Given the description of an element on the screen output the (x, y) to click on. 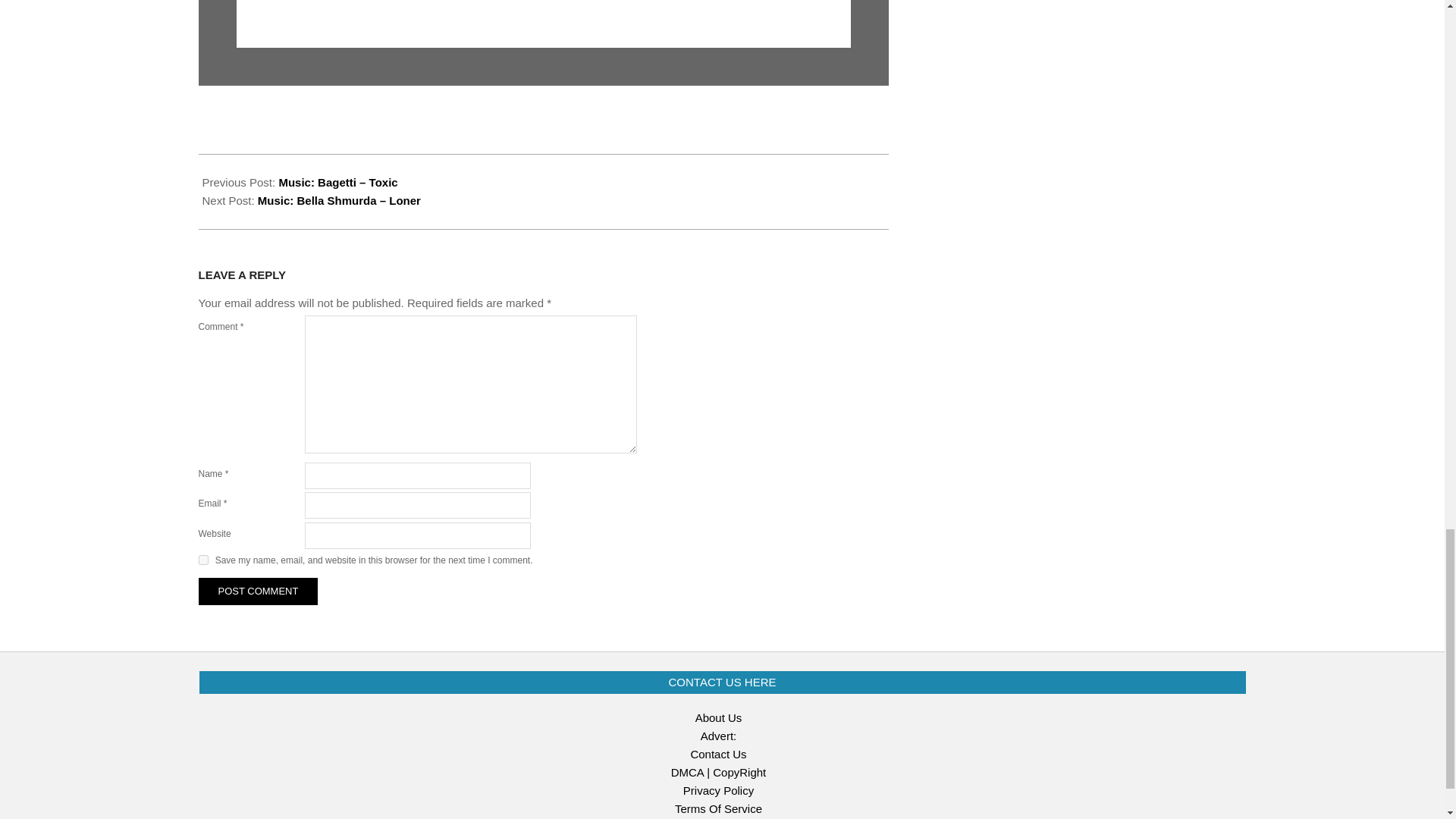
Post Comment (258, 591)
Post Comment (258, 591)
yes (203, 560)
